Given the description of an element on the screen output the (x, y) to click on. 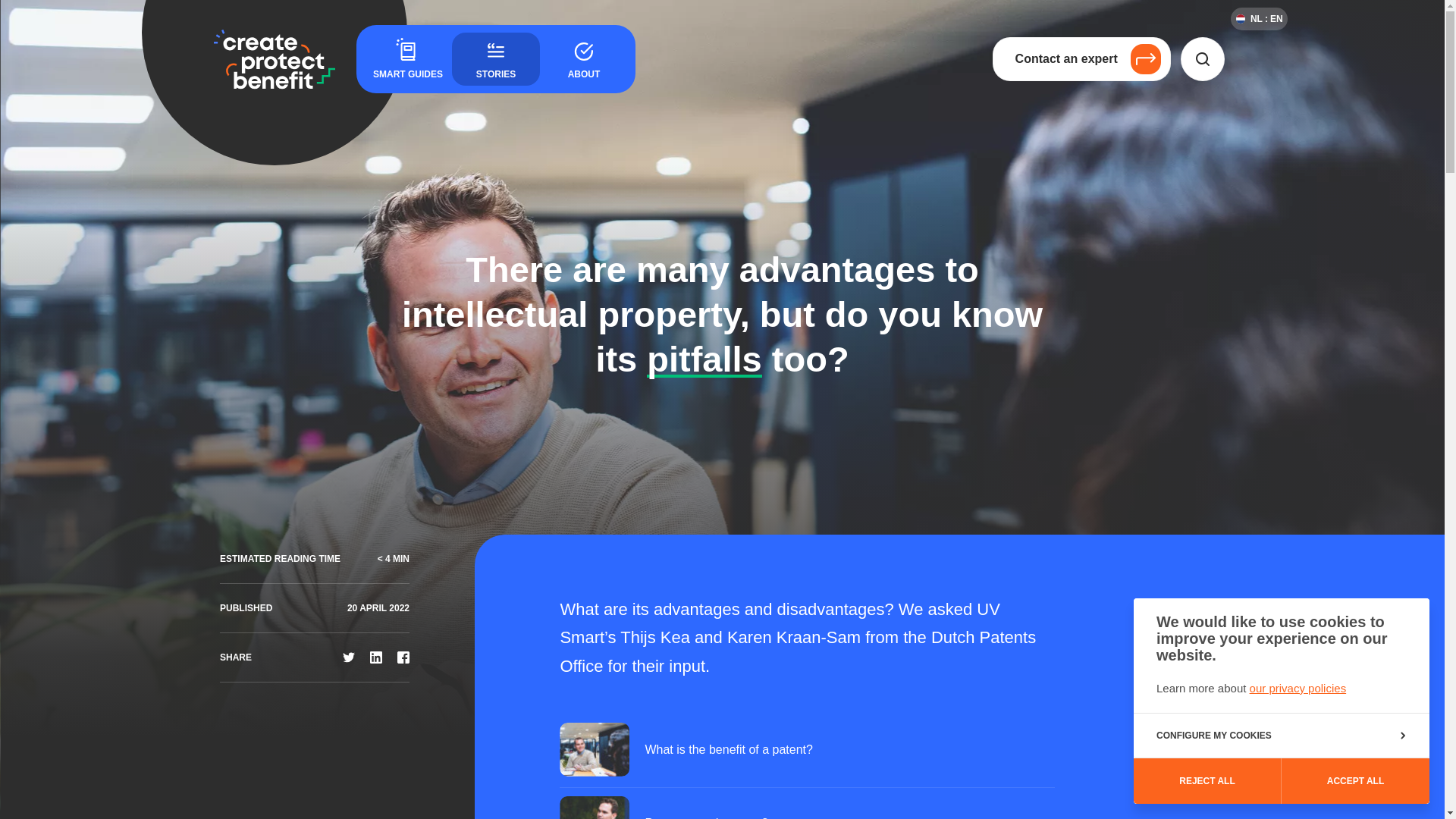
Contact an expert (1081, 58)
Play Video (806, 803)
STORIES (495, 58)
Search (1202, 58)
FACEBOOK (403, 656)
TWITTER (348, 656)
Play Video (806, 750)
Nederland (1259, 18)
ABOUT (583, 58)
English (1275, 18)
